Given the description of an element on the screen output the (x, y) to click on. 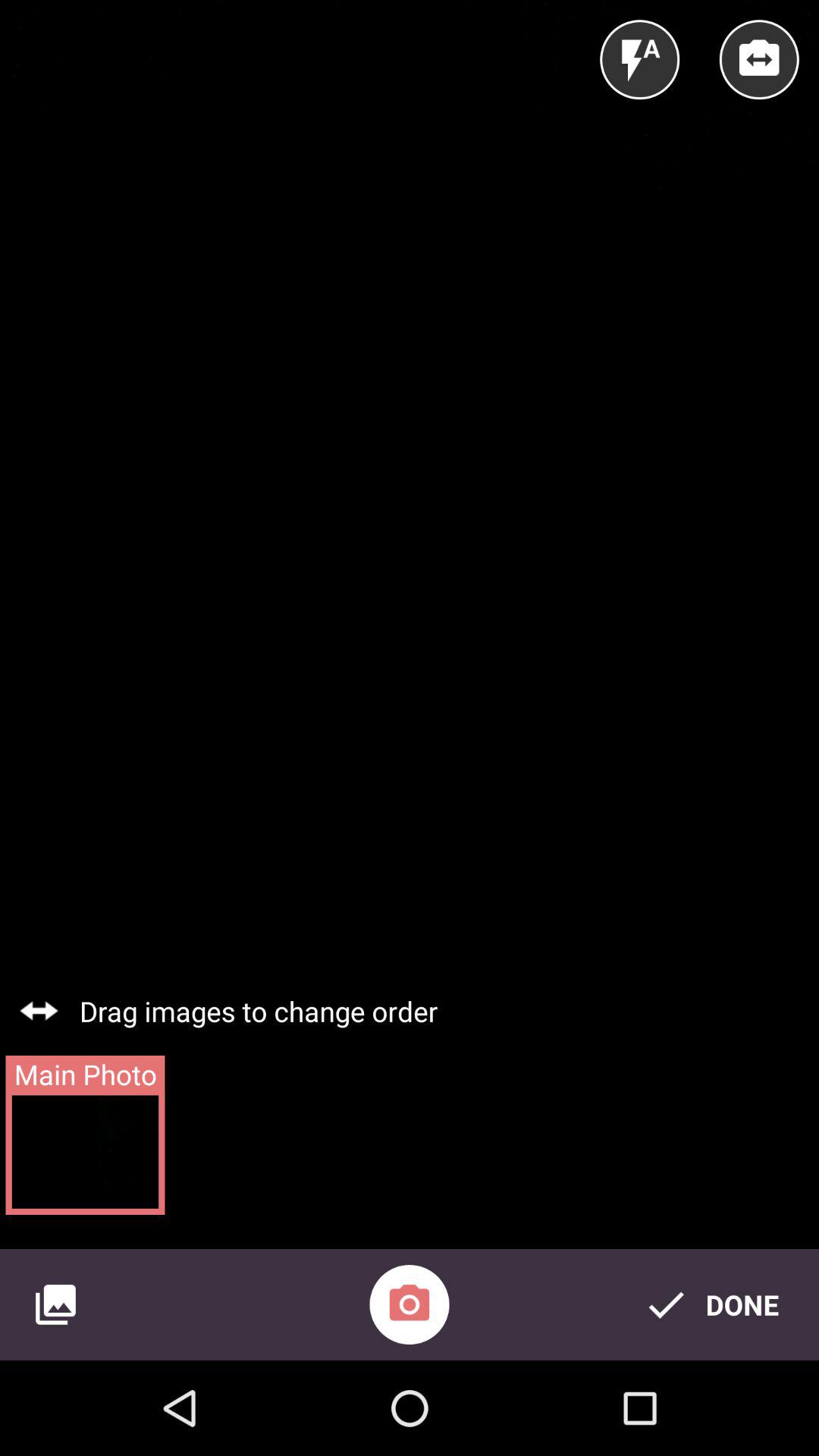
tap the item next to the done item (409, 1304)
